Given the description of an element on the screen output the (x, y) to click on. 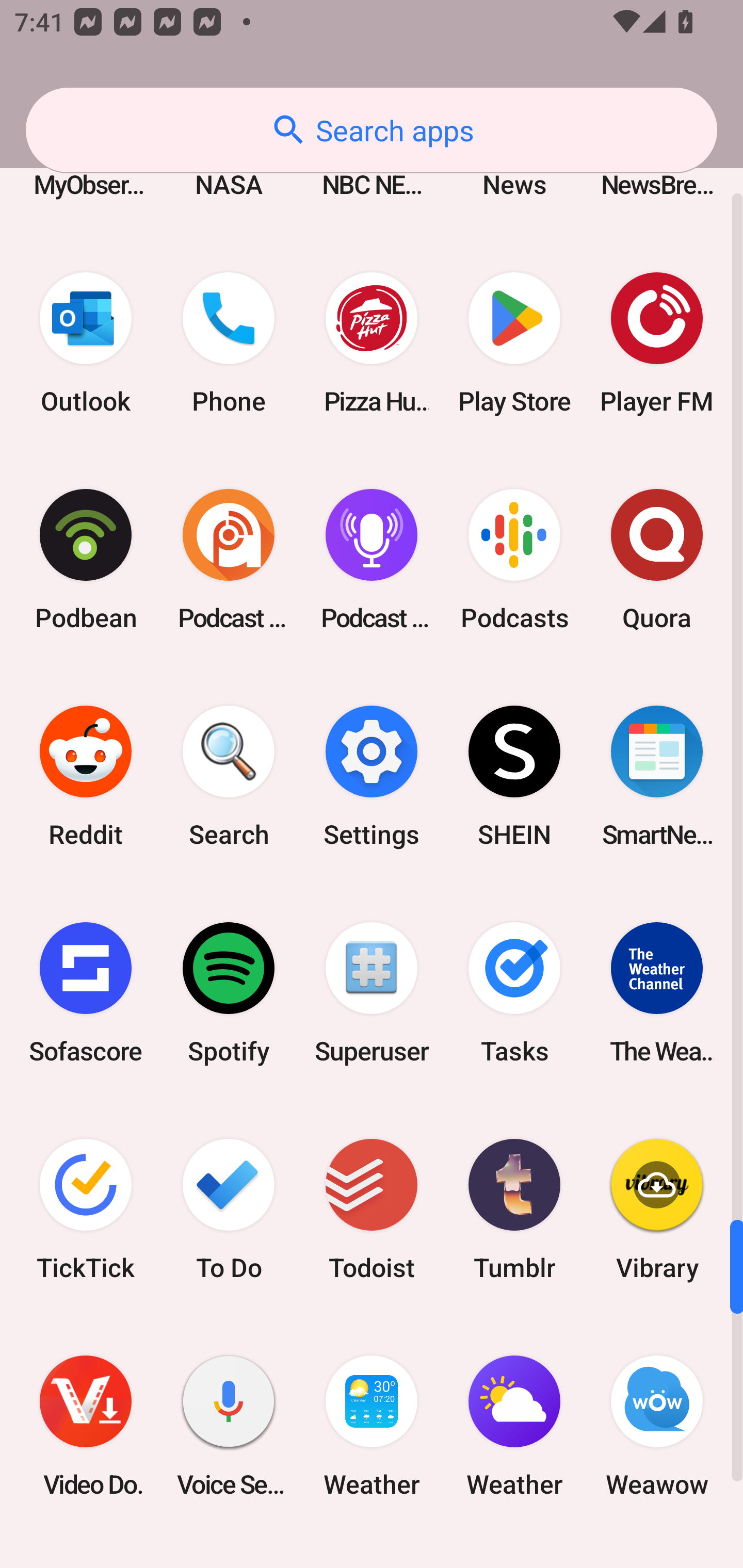
  Search apps (371, 130)
Outlook (85, 343)
Phone (228, 343)
Pizza Hut HK & Macau (371, 343)
Play Store (514, 343)
Player FM (656, 343)
Podbean (85, 559)
Podcast Addict (228, 559)
Podcast Player (371, 559)
Podcasts (514, 559)
Quora (656, 559)
Reddit (85, 775)
Search (228, 775)
Settings (371, 775)
SHEIN (514, 775)
SmartNews (656, 775)
Sofascore (85, 992)
Spotify (228, 992)
Superuser (371, 992)
Tasks (514, 992)
The Weather Channel (656, 992)
TickTick (85, 1208)
To Do (228, 1208)
Todoist (371, 1208)
Tumblr (514, 1208)
Vibrary (656, 1208)
Video Downloader & Ace Player (85, 1426)
Voice Search (228, 1426)
Weather (371, 1426)
Weather (514, 1426)
Weawow (656, 1426)
